Given the description of an element on the screen output the (x, y) to click on. 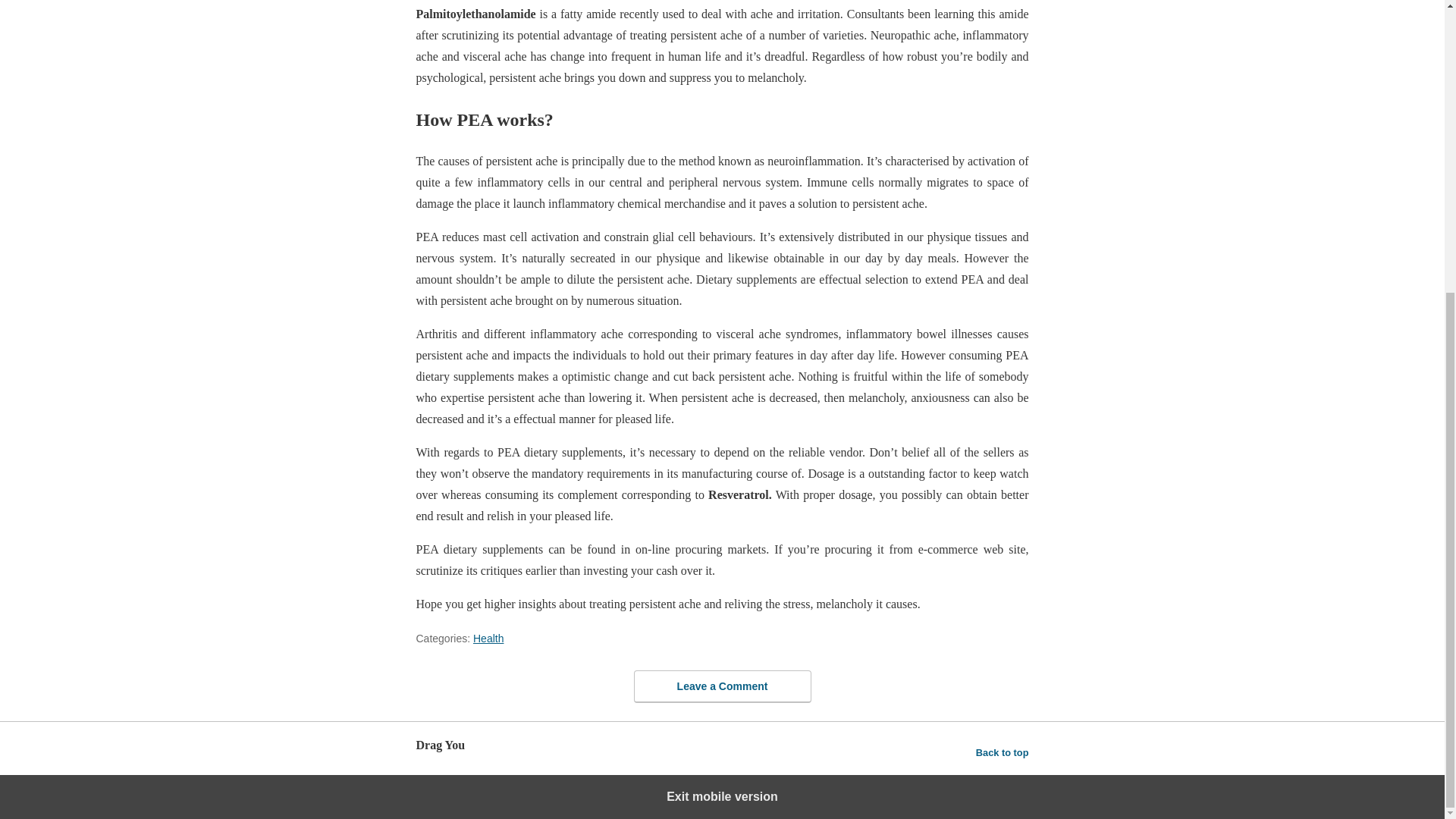
Back to top (1002, 752)
Health (488, 638)
Leave a Comment (721, 686)
